Given the description of an element on the screen output the (x, y) to click on. 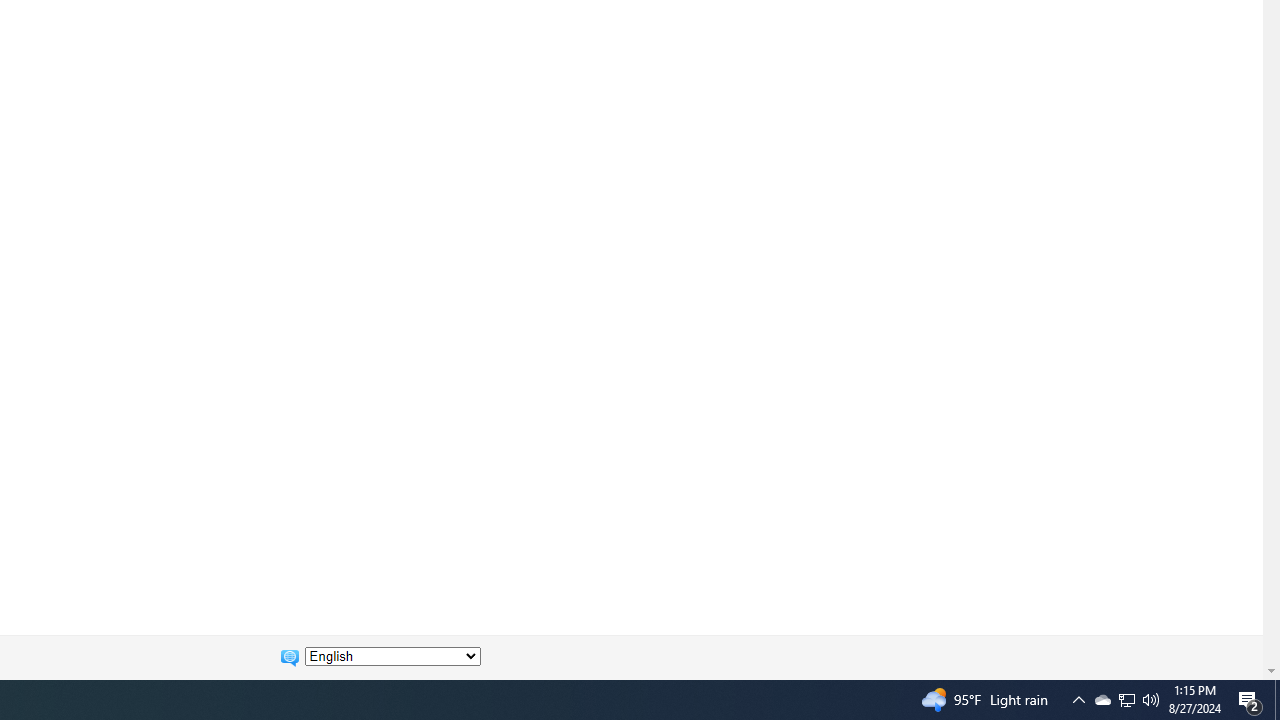
Change language: (392, 656)
